Given the description of an element on the screen output the (x, y) to click on. 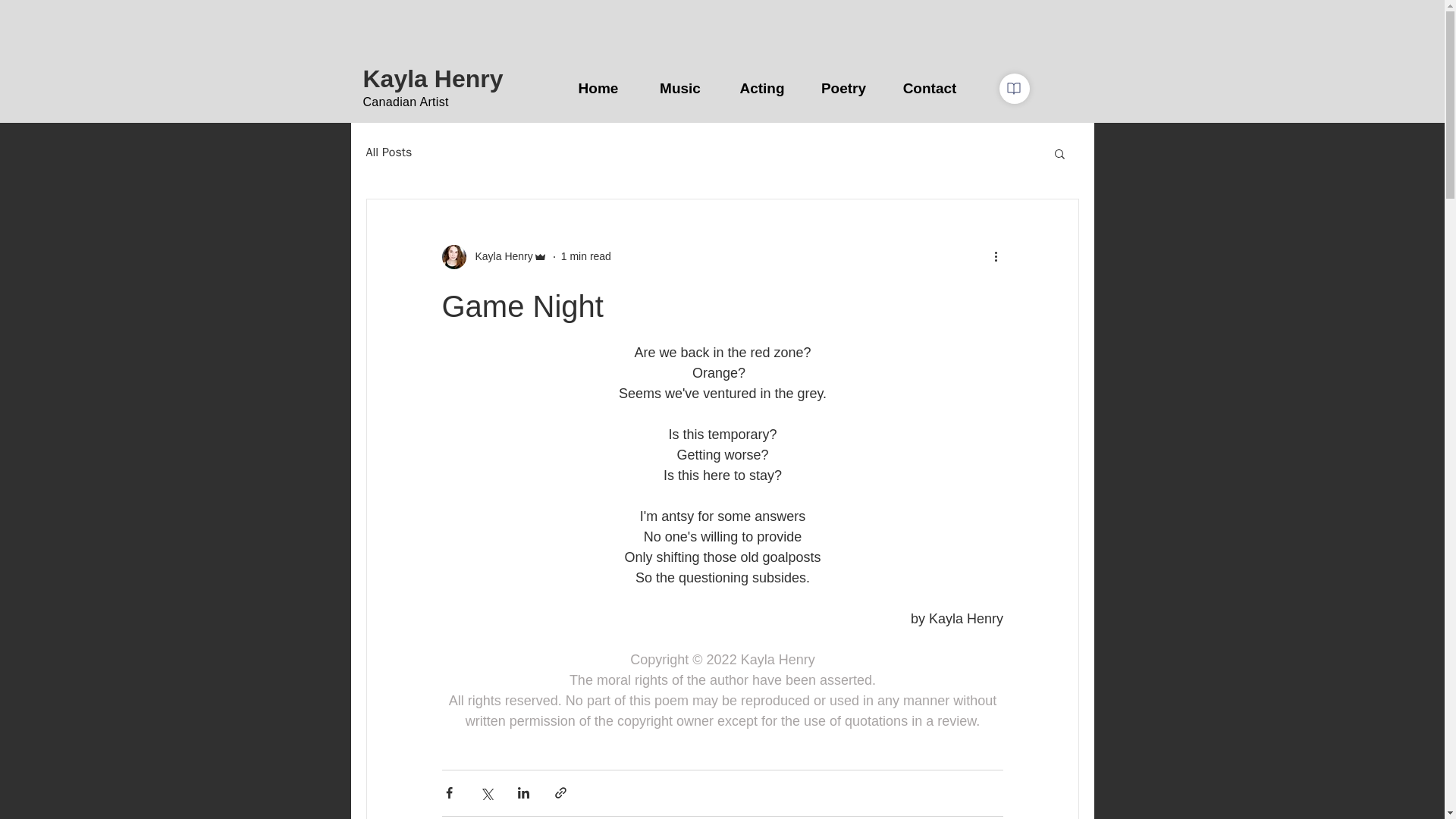
Kayla Henry (498, 256)
Kayla Henry (432, 78)
Home (597, 88)
Poetry (843, 88)
Contact (929, 88)
Acting (761, 88)
Music (680, 88)
Kayla Henry (494, 256)
Canadian Artist (405, 101)
All Posts (388, 152)
1 min read (585, 256)
